Given the description of an element on the screen output the (x, y) to click on. 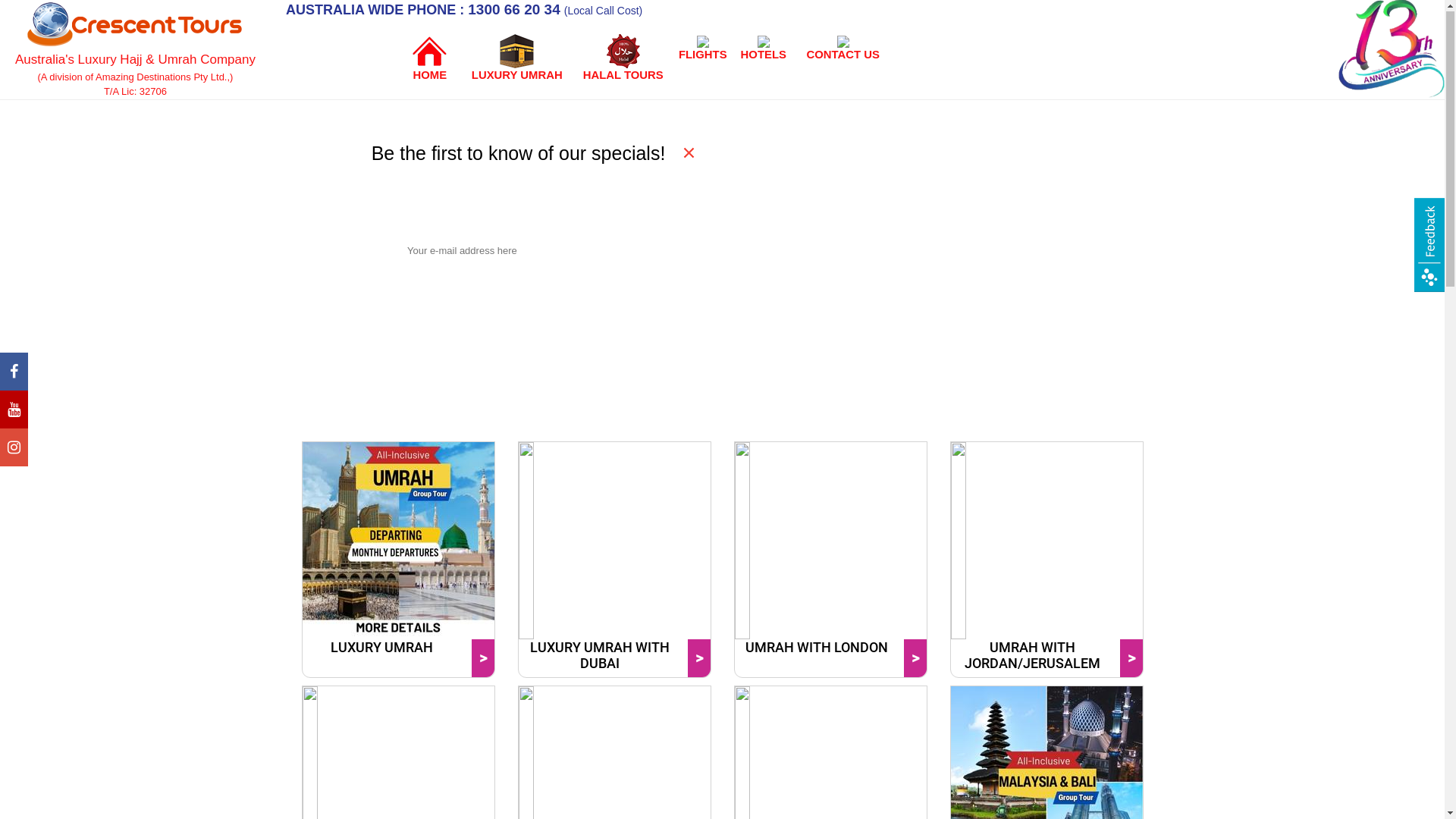
HOME Element type: text (429, 57)
FLIGHTS Element type: text (702, 47)
CONTACT US Element type: text (842, 47)
HALAL TOURS Element type: text (623, 57)
UMRAH WITH LONDON
> Element type: text (830, 559)
Close Element type: text (577, 300)
LUXURY UMRAH Element type: text (517, 57)
HOTELS Element type: text (763, 47)
Submit Element type: text (452, 300)
Reviews Element type: hover (1429, 245)
LUXURY UMRAH WITH DUBAI
> Element type: text (613, 559)
LUXURY UMRAH
> Element type: text (398, 559)
UMRAH WITH JORDAN/JERUSALEM
> Element type: text (1045, 559)
